Given the description of an element on the screen output the (x, y) to click on. 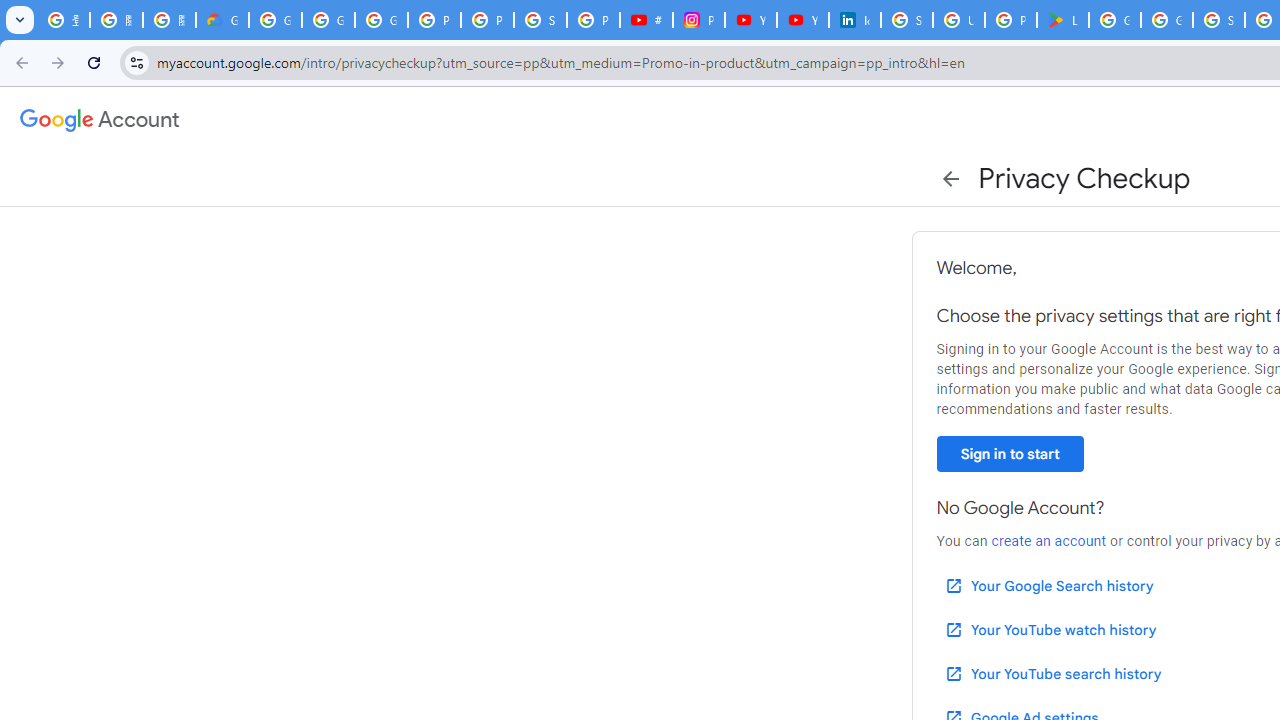
#nbabasketballhighlights - YouTube (646, 20)
YouTube Culture & Trends - YouTube Top 10, 2021 (803, 20)
Sign in - Google Accounts (1219, 20)
YouTube Culture & Trends - On The Rise: Handcam Videos (750, 20)
Identity verification via Persona | LinkedIn Help (854, 20)
Sign in - Google Accounts (540, 20)
Your YouTube search history (1052, 673)
Sign in - Google Accounts (906, 20)
